Given the description of an element on the screen output the (x, y) to click on. 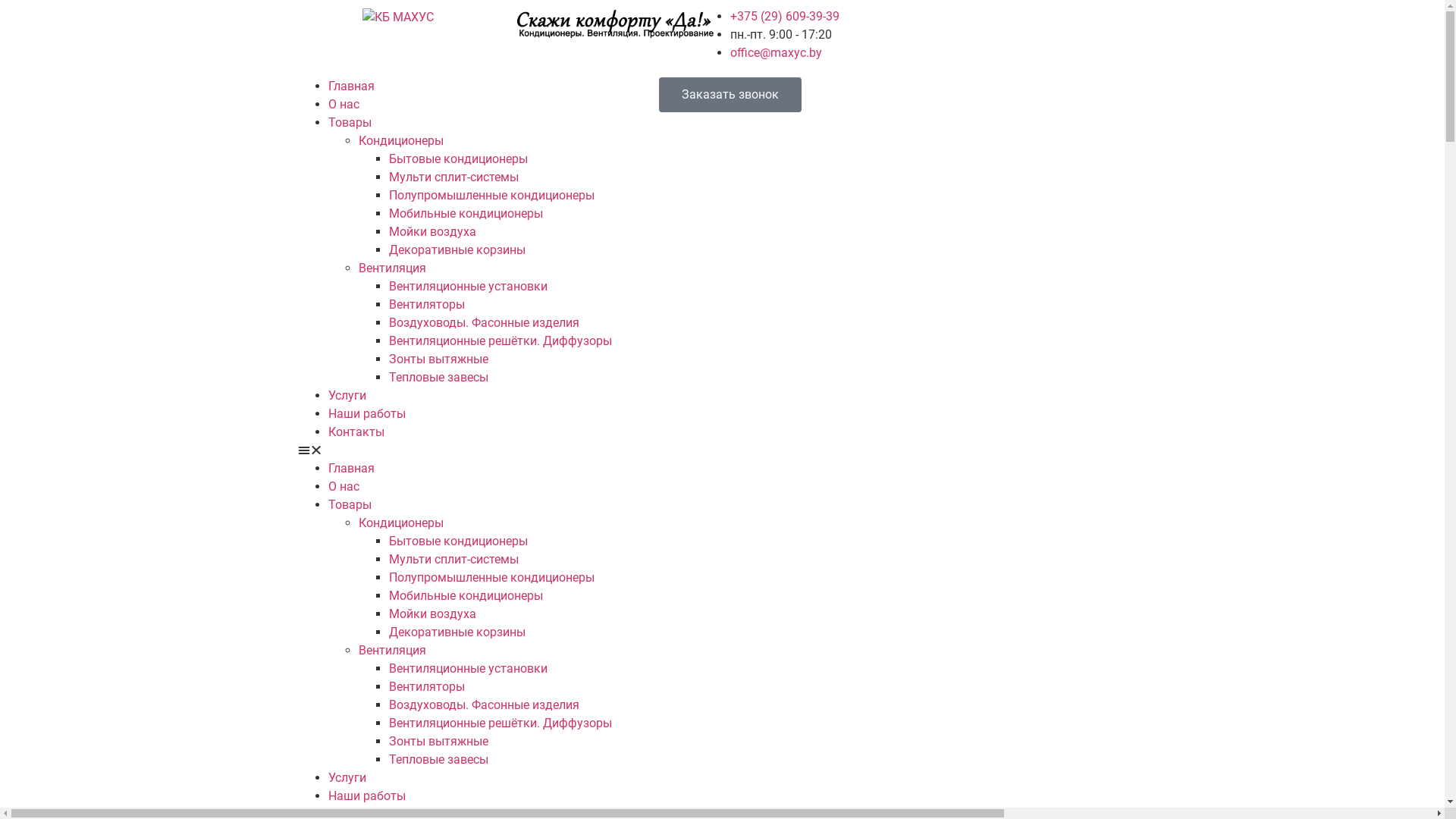
office@maxyc.by Element type: text (775, 52)
+375 (29) 609-39-39 Element type: text (783, 16)
